Given the description of an element on the screen output the (x, y) to click on. 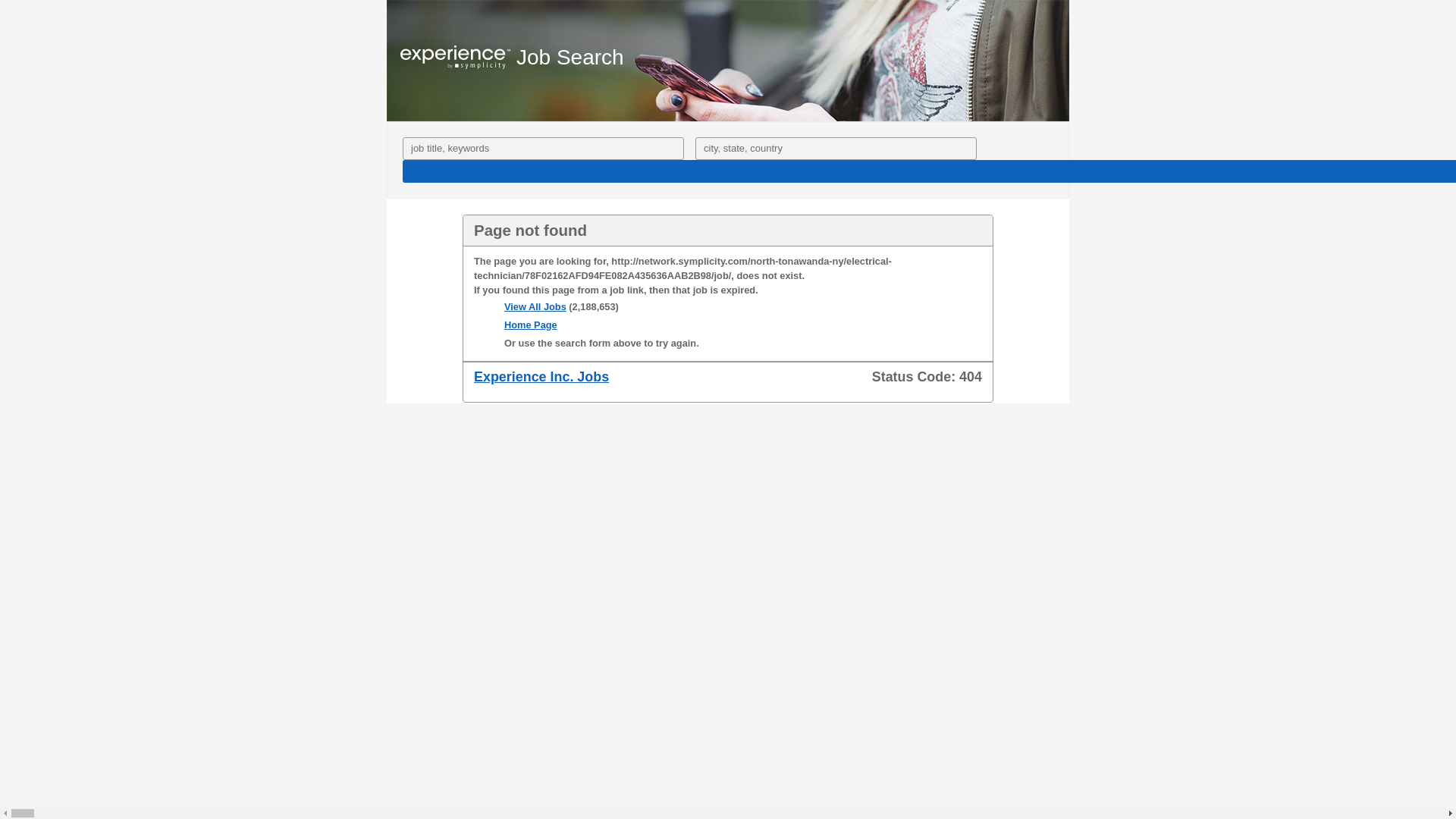
Home Page (530, 324)
Search Phrase (543, 148)
Experience Inc. Jobs (541, 376)
Search Location (835, 148)
View All Jobs (534, 306)
